Given the description of an element on the screen output the (x, y) to click on. 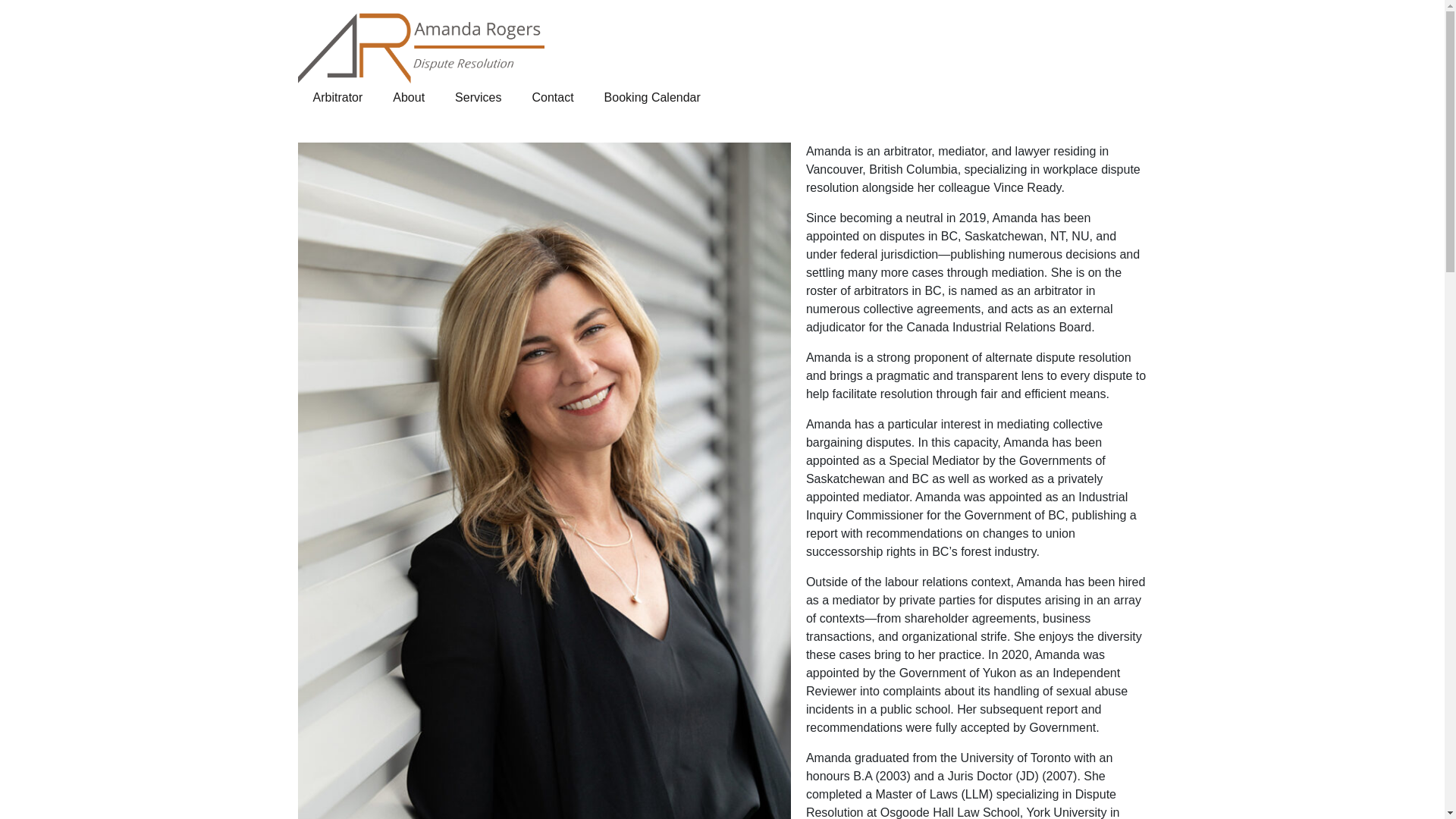
Services Element type: text (477, 97)
Contact Element type: text (552, 97)
Arbitrator Element type: text (337, 97)
About Element type: text (408, 97)
Booking Calendar Element type: text (652, 97)
